Given the description of an element on the screen output the (x, y) to click on. 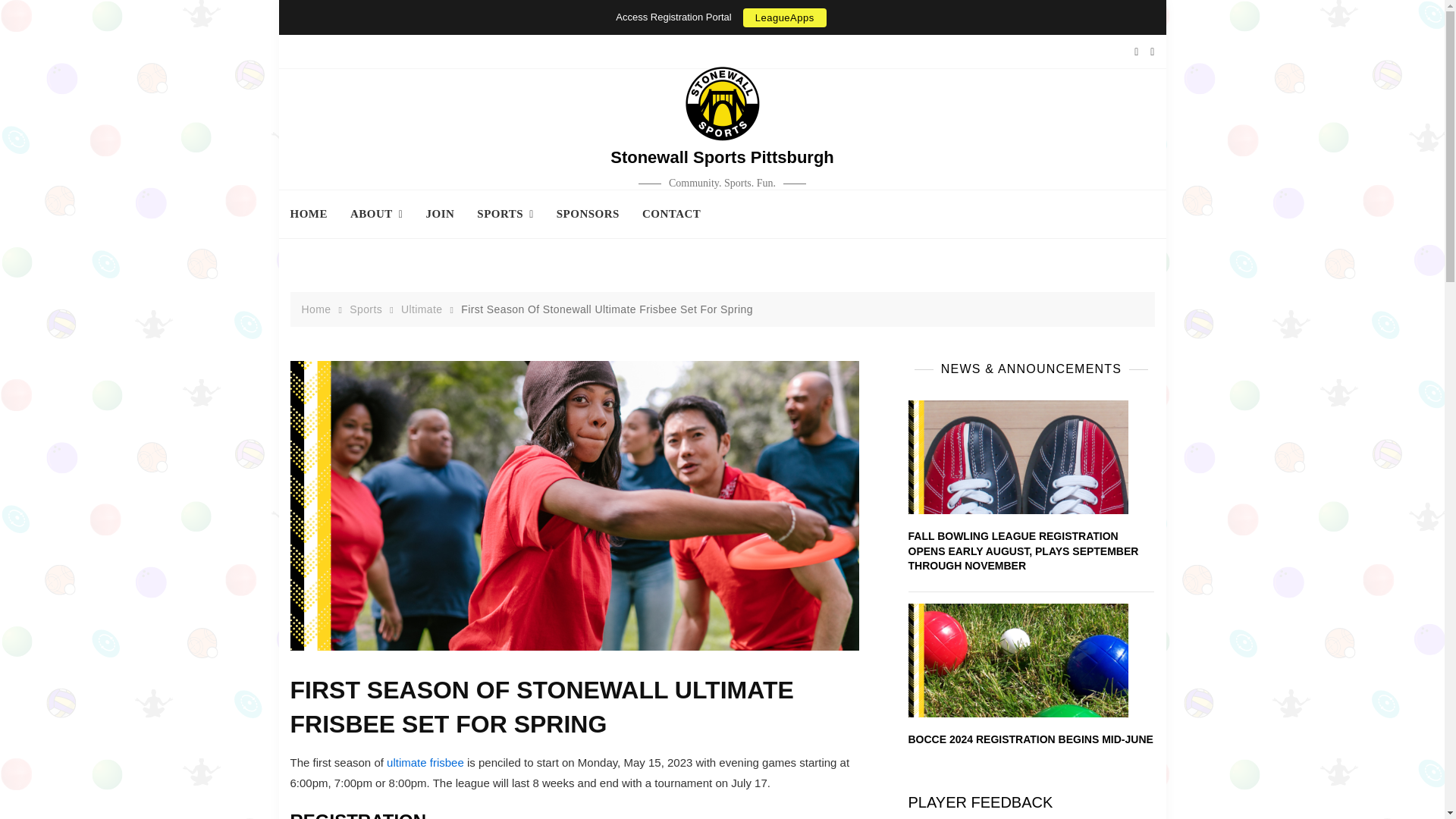
SPONSORS (587, 214)
LeagueApps (784, 16)
Stonewall Sports Pittsburgh (722, 157)
ABOUT (376, 214)
JOIN (439, 214)
SPORTS (504, 214)
HOME (314, 214)
CONTACT (670, 214)
